Given the description of an element on the screen output the (x, y) to click on. 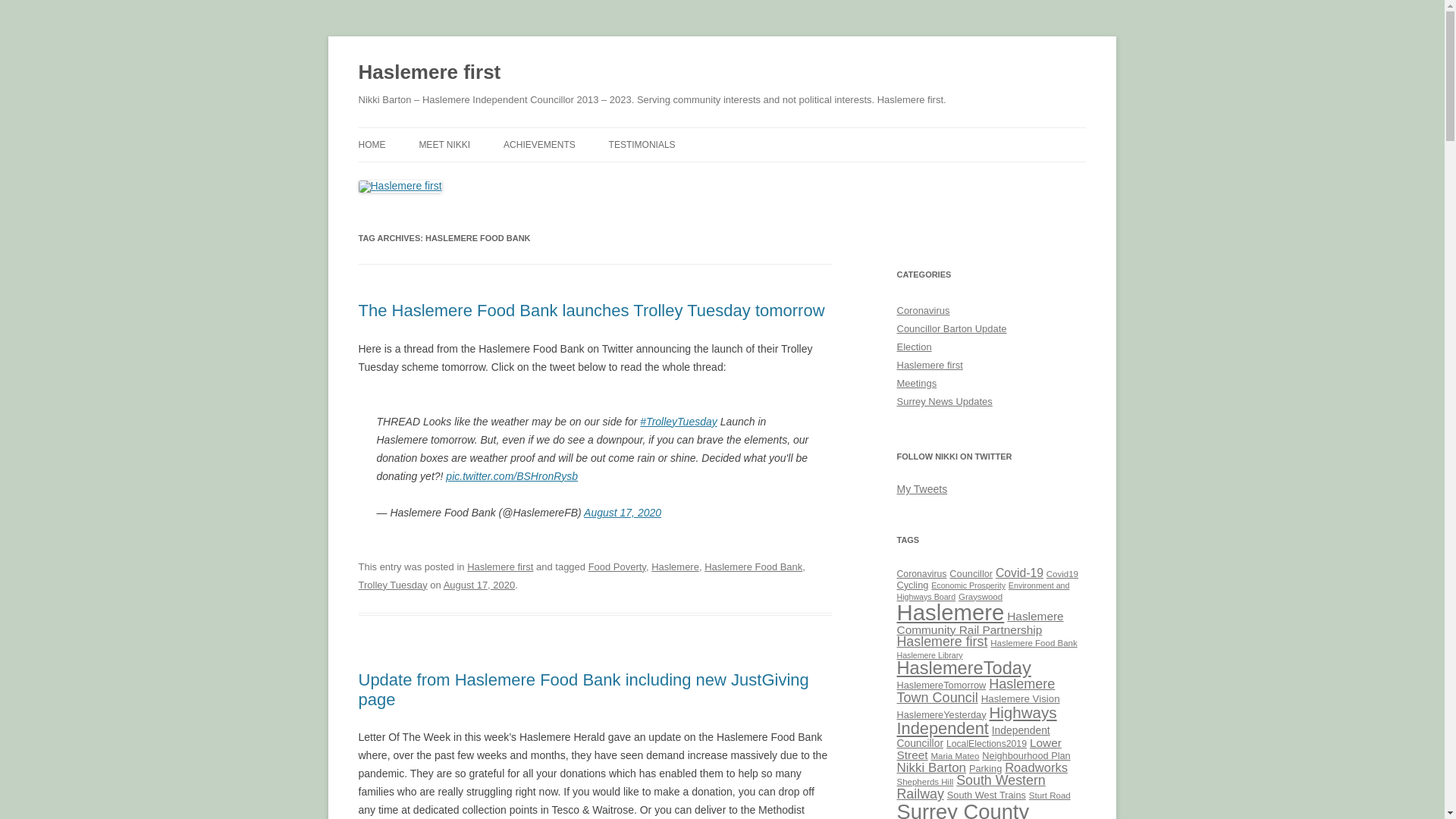
TESTIMONIALS (641, 144)
August 17, 2020 (622, 512)
Haslemere first (429, 72)
Food Poverty (617, 566)
Haslemere first (499, 566)
MEET NIKKI (444, 144)
ACHIEVEMENTS (539, 144)
Haslemere (674, 566)
Haslemere first (429, 72)
